Given the description of an element on the screen output the (x, y) to click on. 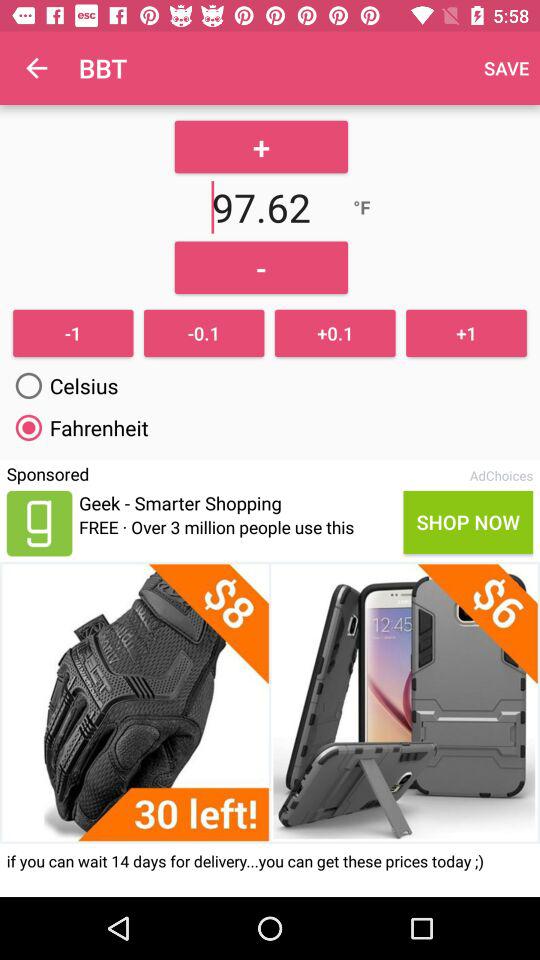
go to the article page (270, 702)
